Given the description of an element on the screen output the (x, y) to click on. 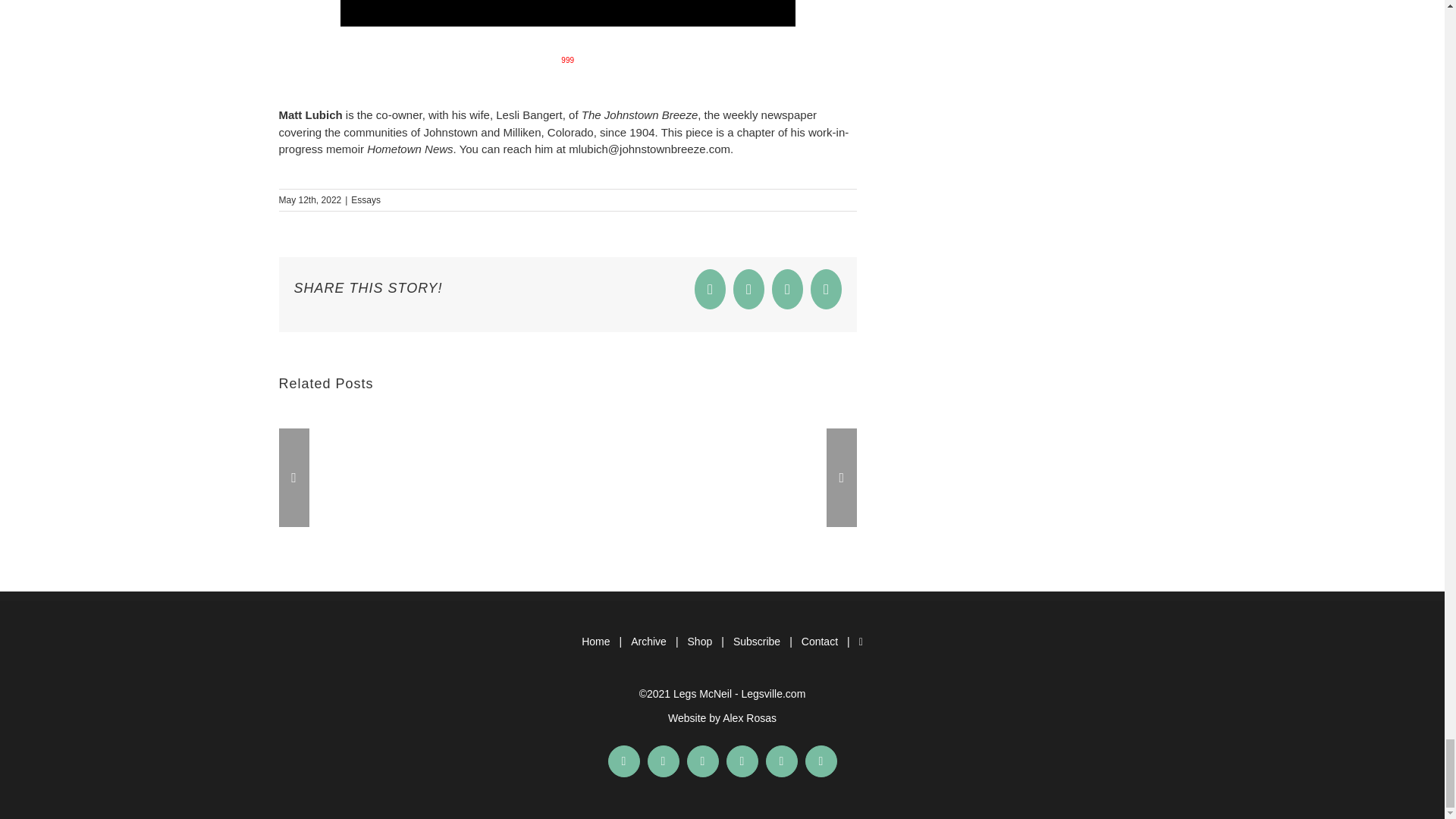
Essays (365, 199)
The Johnstown Breeze (638, 114)
Matt Lubich (310, 114)
YouTube video player 1 (567, 13)
